Given the description of an element on the screen output the (x, y) to click on. 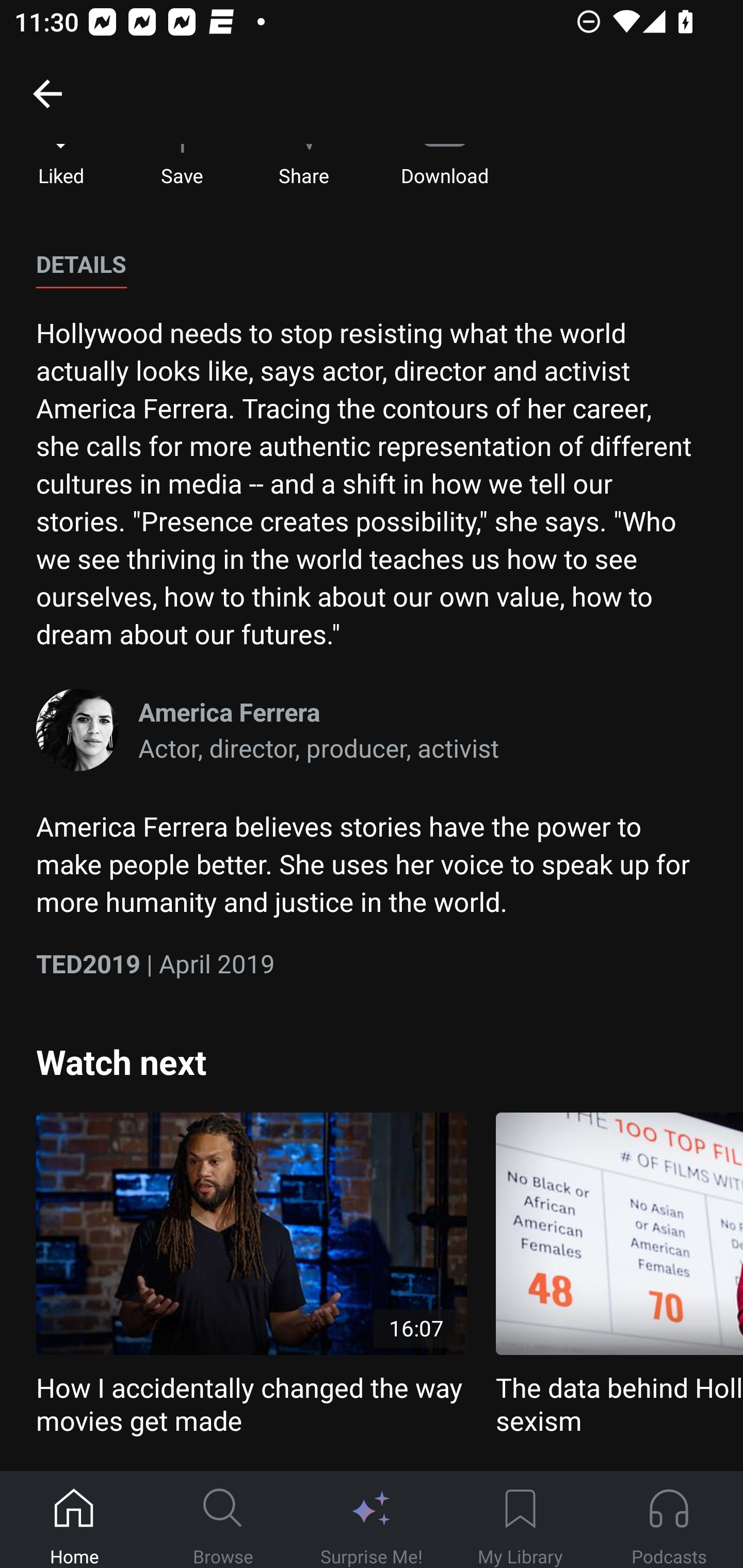
Home, back (47, 92)
Liked (60, 166)
Save (181, 166)
Share (302, 166)
Download (444, 166)
DETAILS (80, 264)
The data behind Hollywood's sexism (619, 1275)
Home (74, 1520)
Browse (222, 1520)
Surprise Me! (371, 1520)
My Library (519, 1520)
Podcasts (668, 1520)
